Given the description of an element on the screen output the (x, y) to click on. 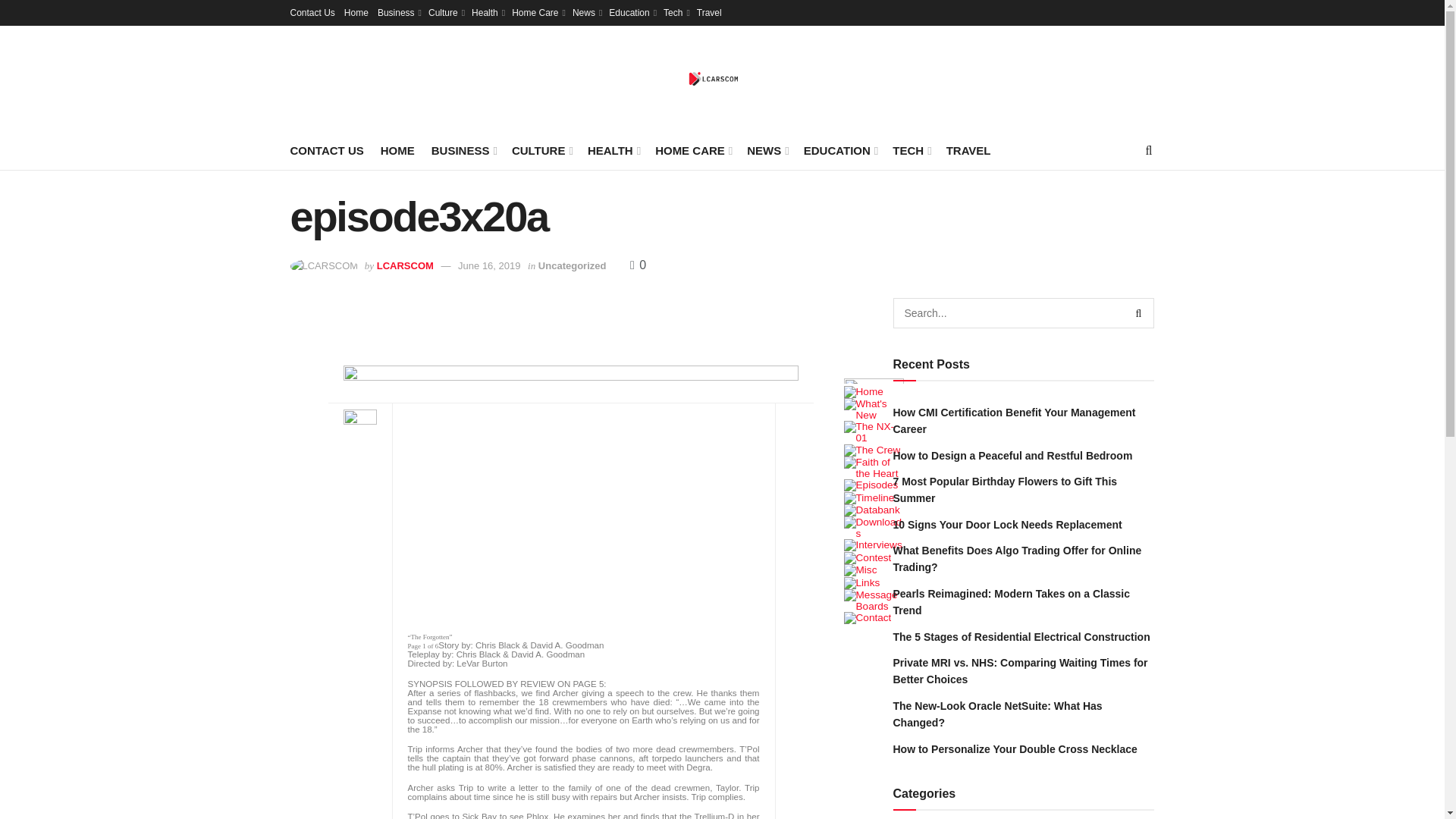
Health (486, 12)
Culture (445, 12)
Home Care (537, 12)
Contact Us (311, 12)
Business (398, 12)
Home (355, 12)
